Given the description of an element on the screen output the (x, y) to click on. 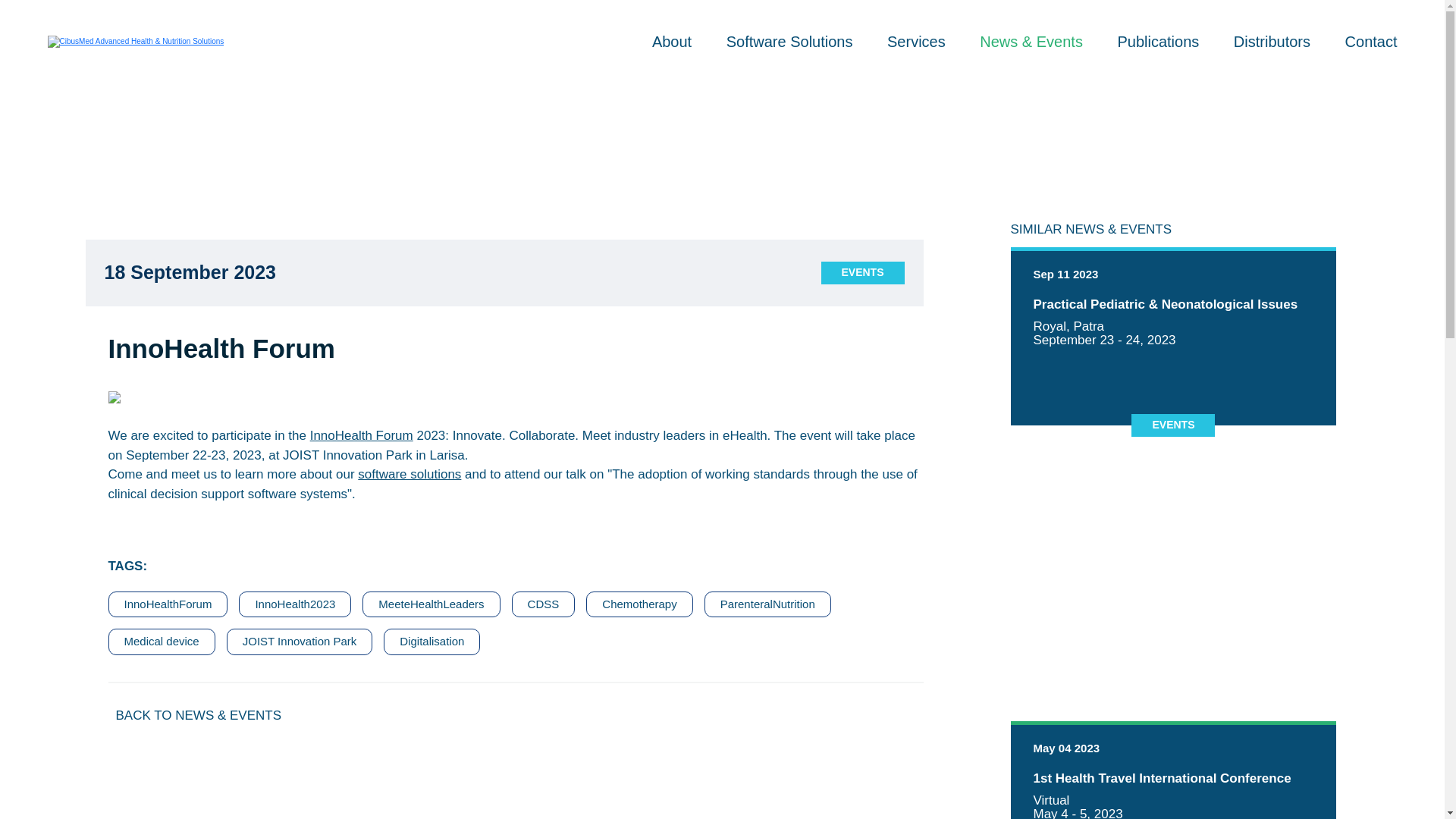
About Page (1273, 41)
Distributors Page (673, 41)
InnoHealth Forum (1159, 41)
Publications Page (673, 41)
Contact Page (1273, 41)
software solutions (791, 41)
Services Page (1371, 41)
Software Solutions Page (361, 435)
